Given the description of an element on the screen output the (x, y) to click on. 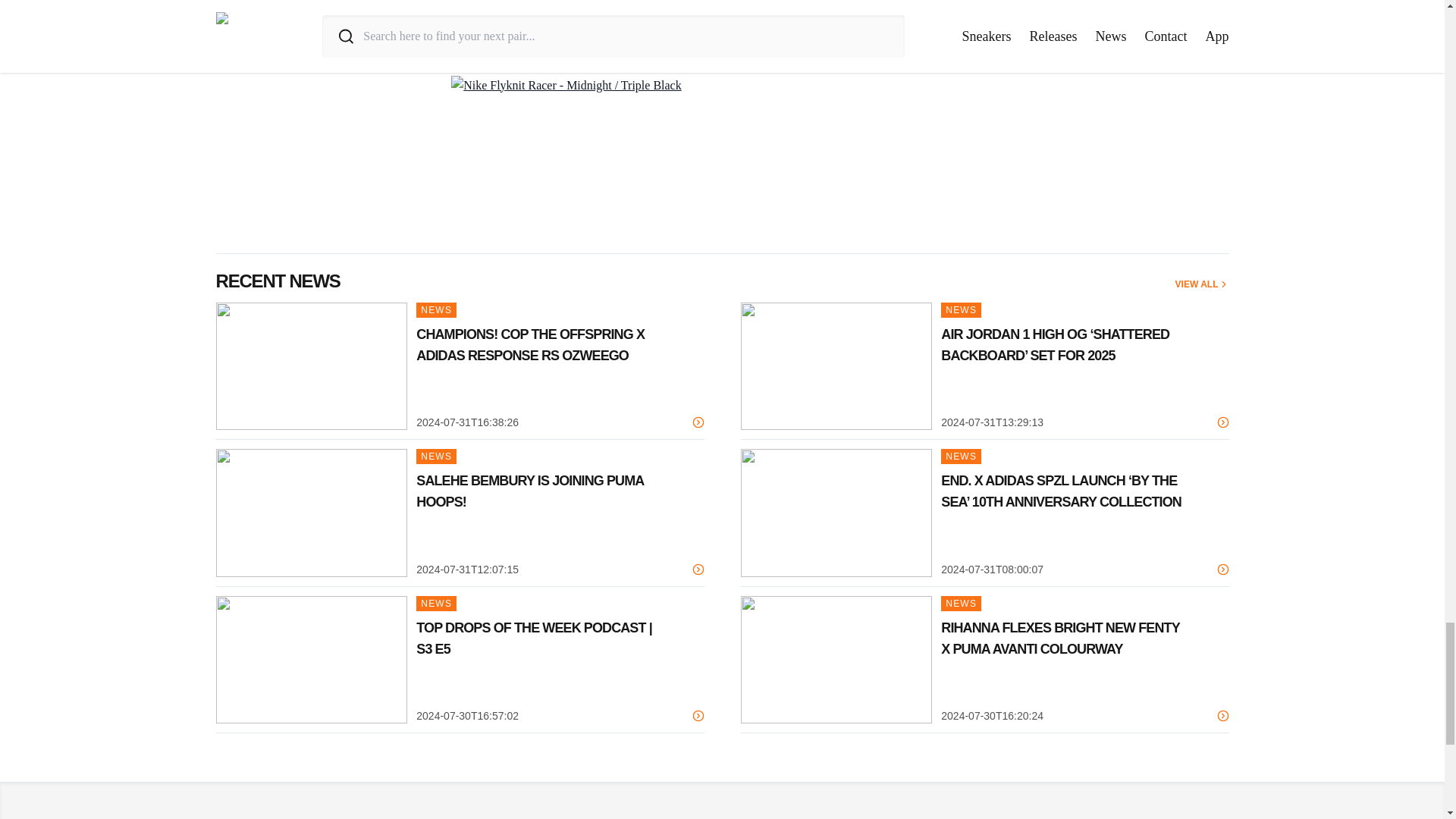
VIEW ALL (1201, 284)
